Given the description of an element on the screen output the (x, y) to click on. 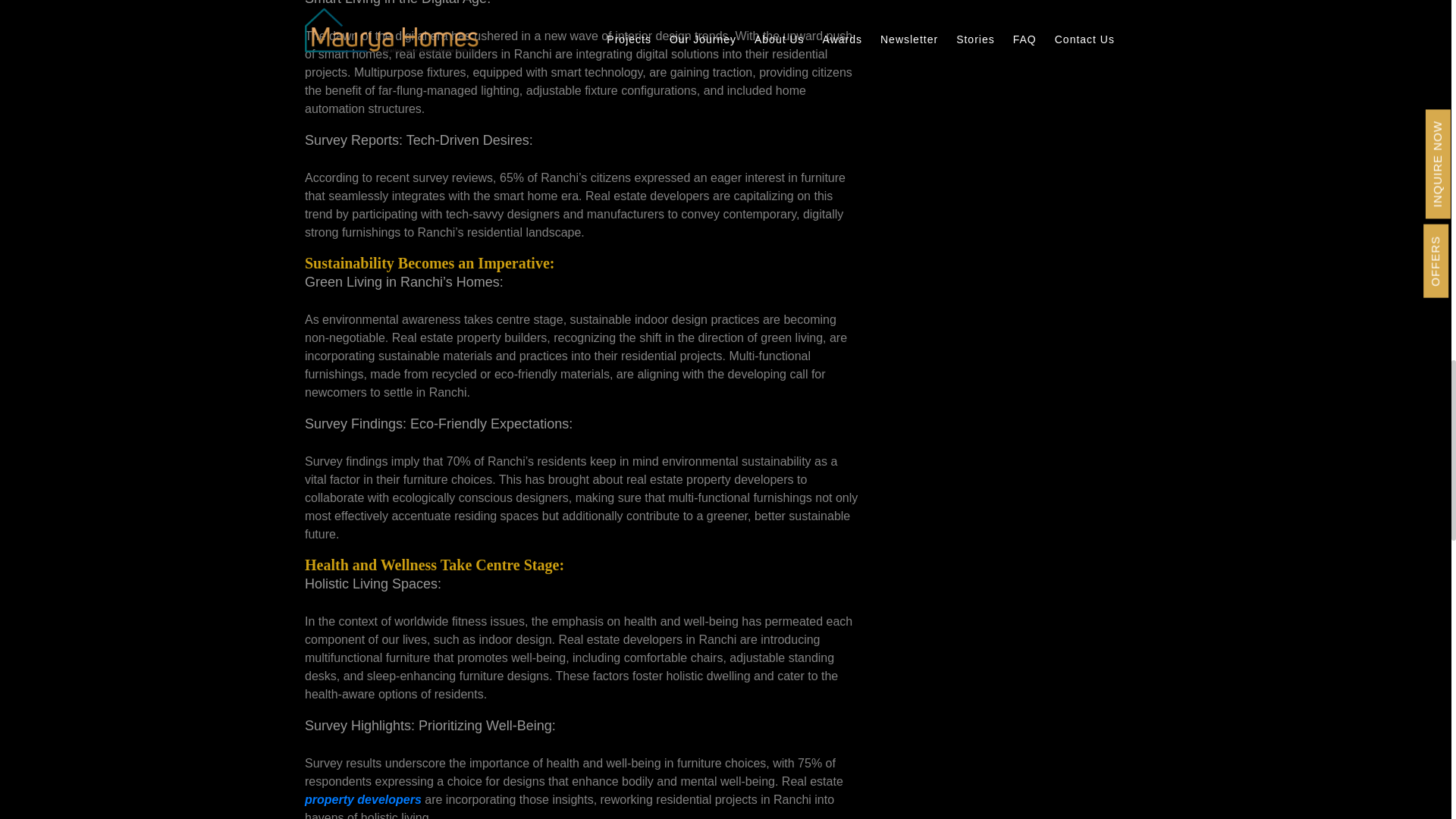
property developers (363, 799)
